Given the description of an element on the screen output the (x, y) to click on. 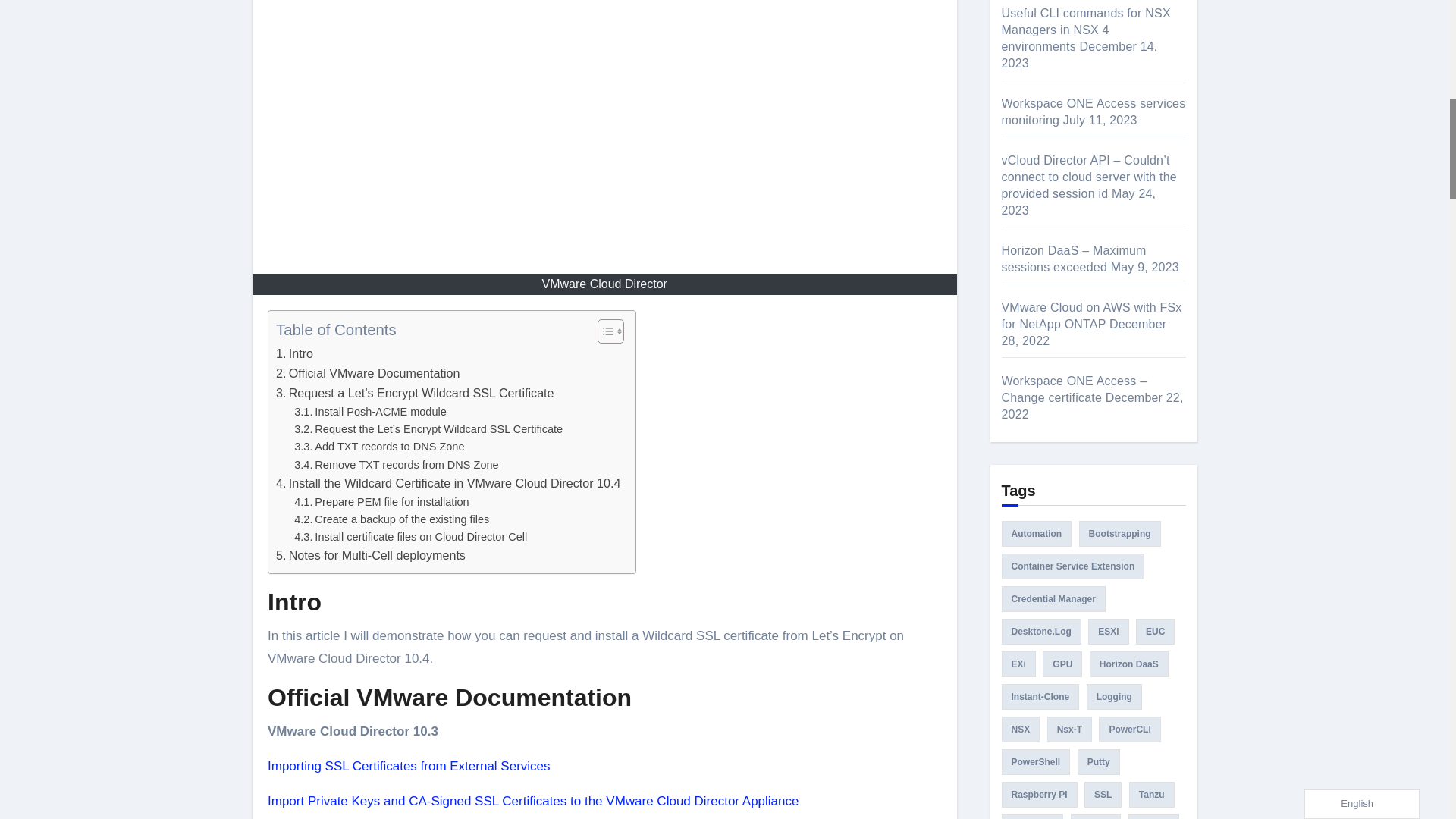
Intro (294, 353)
Prepare PEM file for installation (381, 502)
Remove TXT records from DNS Zone (395, 465)
Notes for Multi-Cell deployments (370, 555)
Add TXT records to DNS Zone (379, 446)
Install certificate files on Cloud Director Cell (410, 537)
Create a backup of the existing files (391, 519)
Install Posh-ACME module (370, 411)
Intro (294, 353)
Official VMware Documentation (368, 373)
Official VMware Documentation (368, 373)
